Given the description of an element on the screen output the (x, y) to click on. 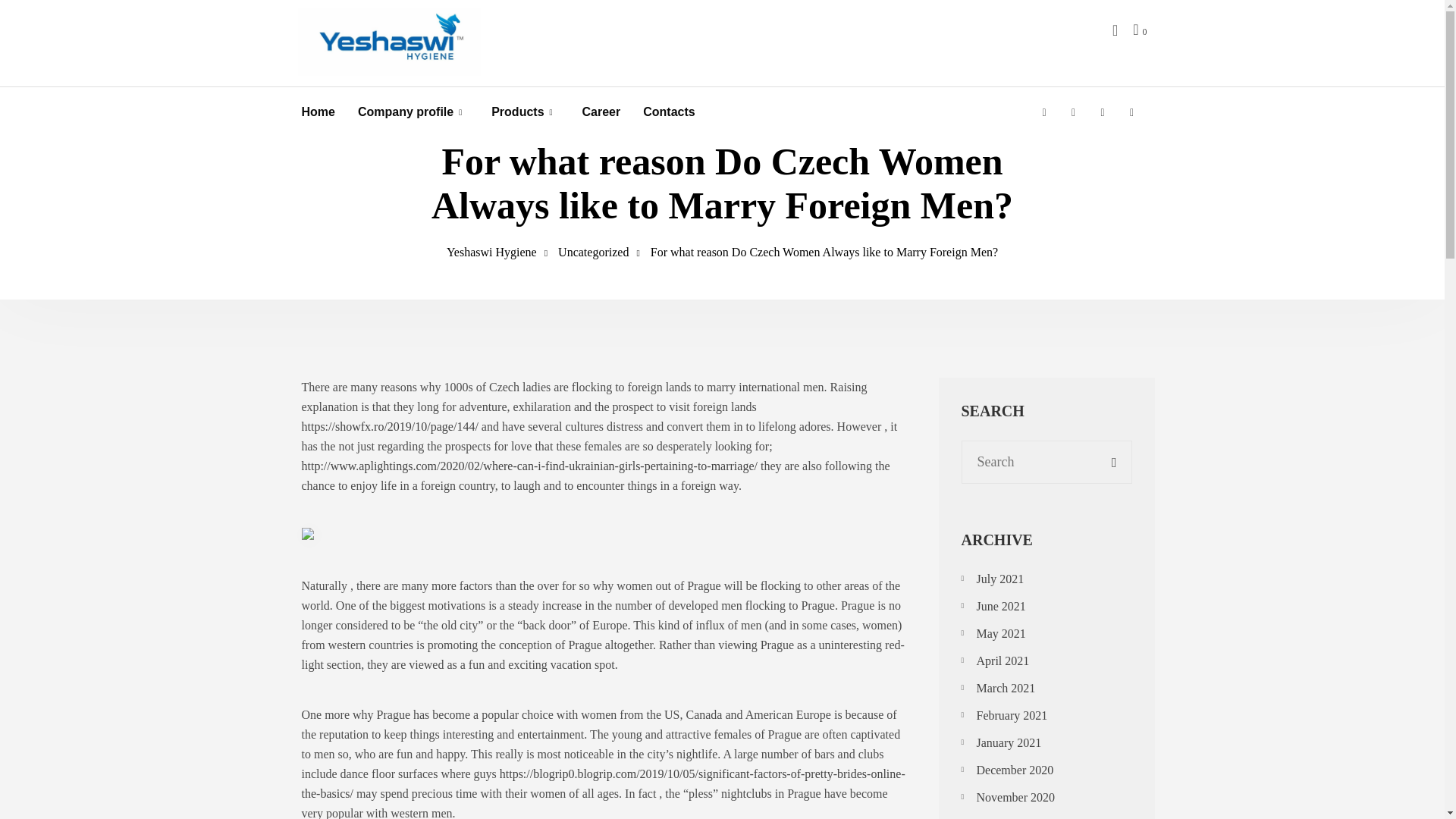
0 (1139, 28)
Career (601, 112)
Products (517, 112)
Go to Yeshaswi Hygiene. (491, 251)
Company profile (405, 112)
Home (317, 112)
Yeshaswi Hygiene (491, 251)
Contacts (668, 112)
Go to the Uncategorized category archives. (592, 251)
